Given the description of an element on the screen output the (x, y) to click on. 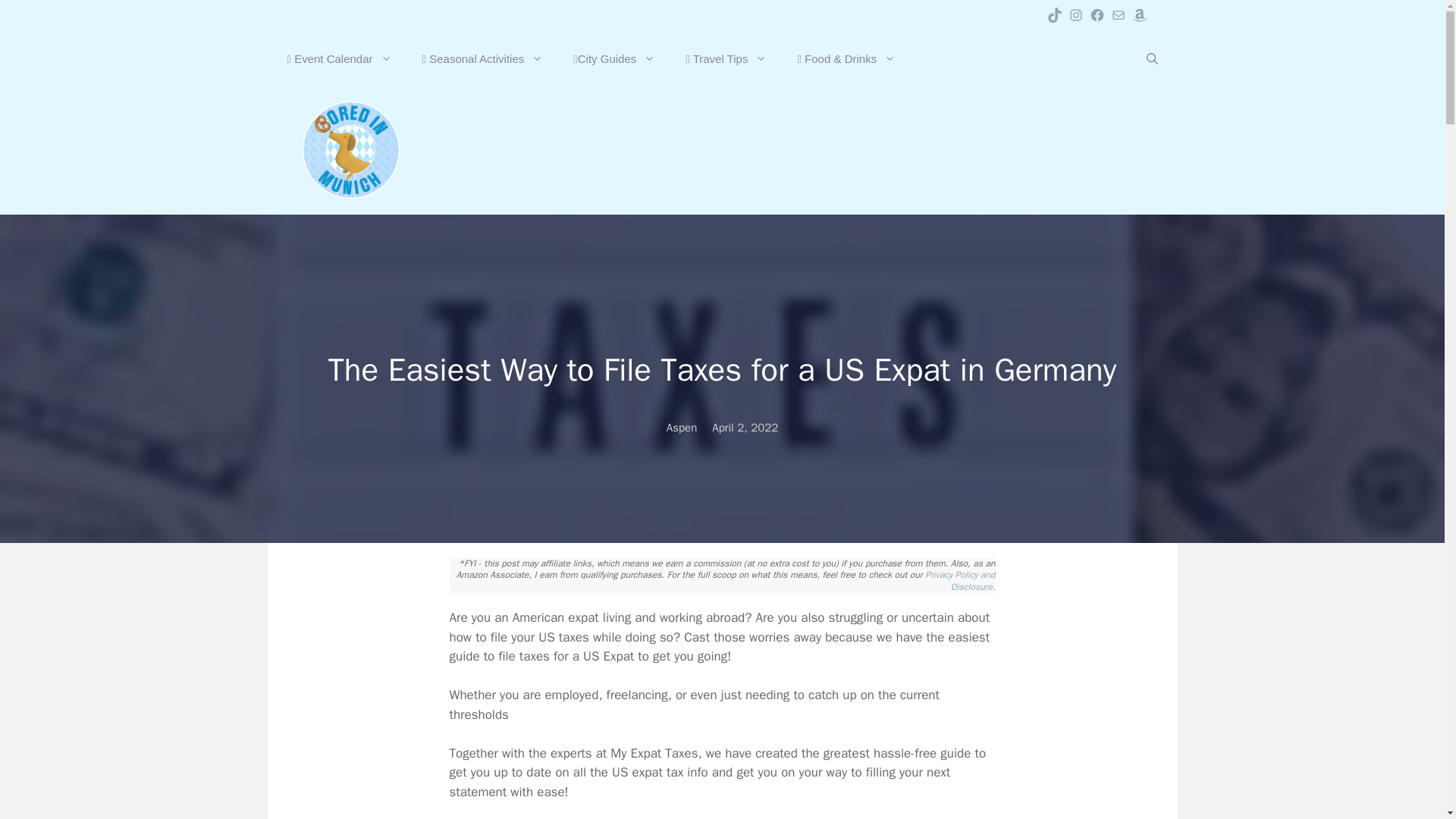
Amazon (1139, 14)
Instagram (1075, 14)
Facebook (1096, 14)
TikTok (1053, 14)
Mail (1117, 14)
